Given the description of an element on the screen output the (x, y) to click on. 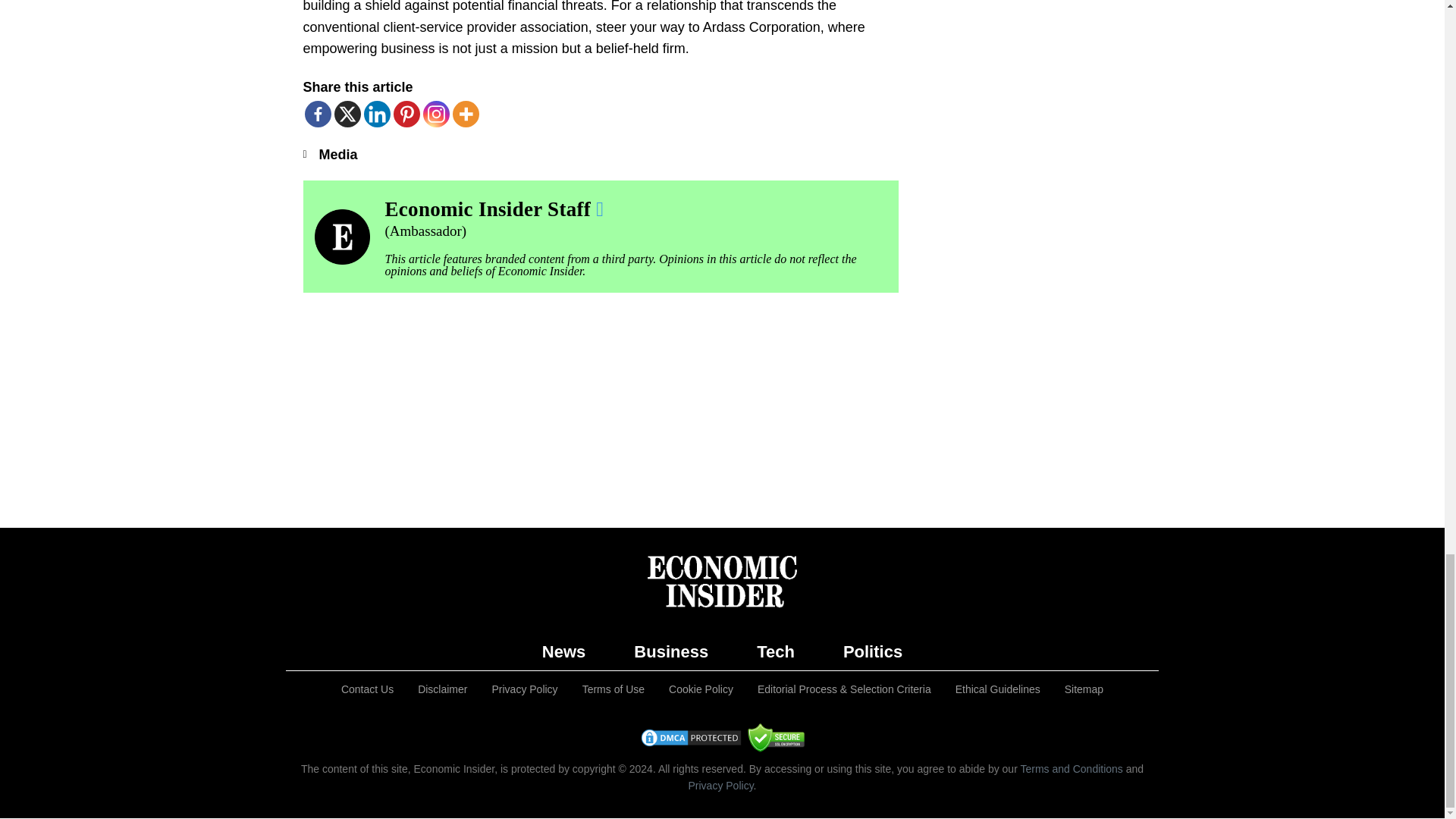
More (465, 113)
Pinterest (406, 113)
Instagram (436, 113)
X (346, 113)
Linkedin (377, 113)
DMCA.com Protection Status (690, 743)
Facebook (317, 113)
